Given the description of an element on the screen output the (x, y) to click on. 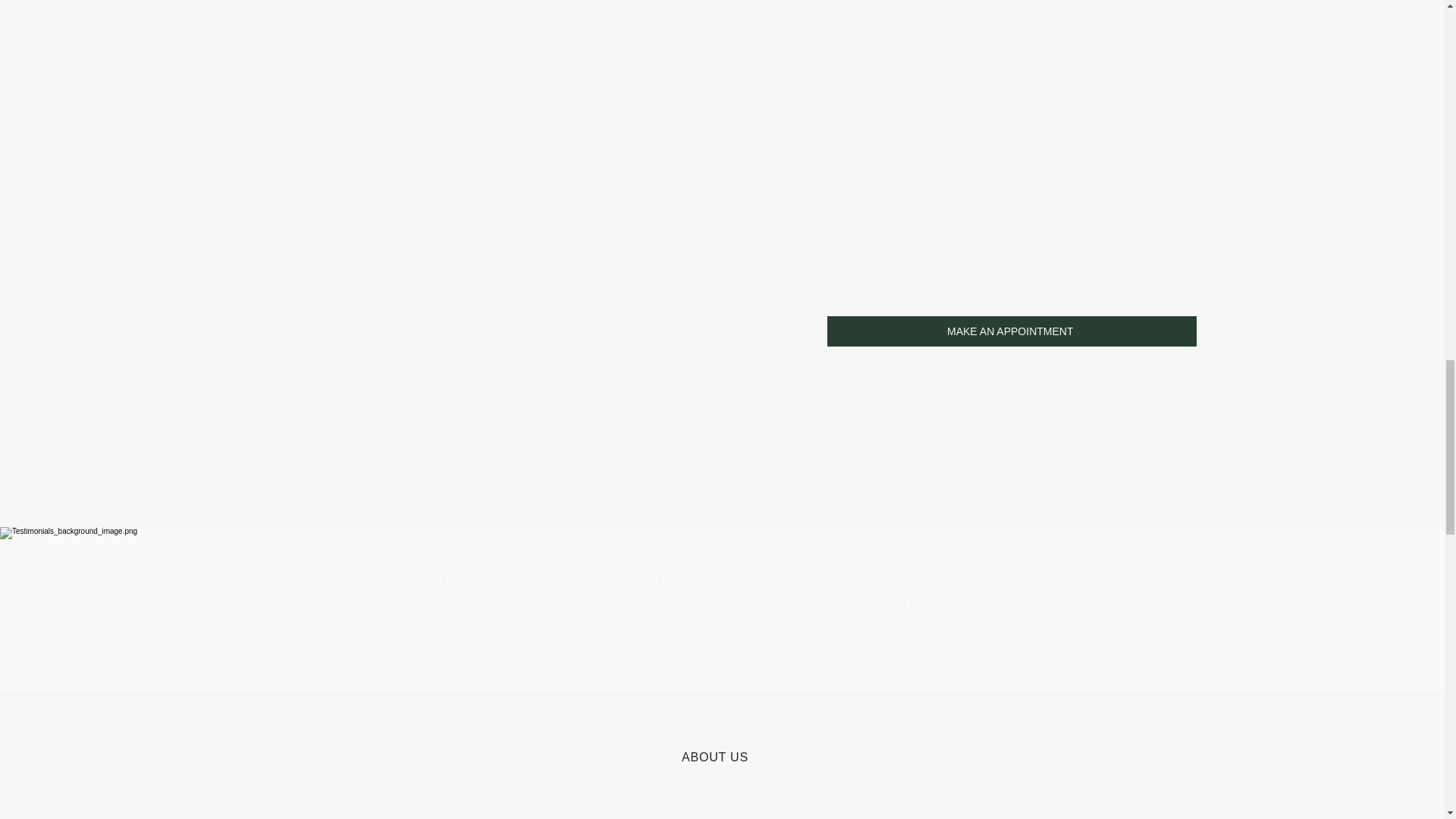
MAKE AN APPOINTMENT (1011, 331)
